Given the description of an element on the screen output the (x, y) to click on. 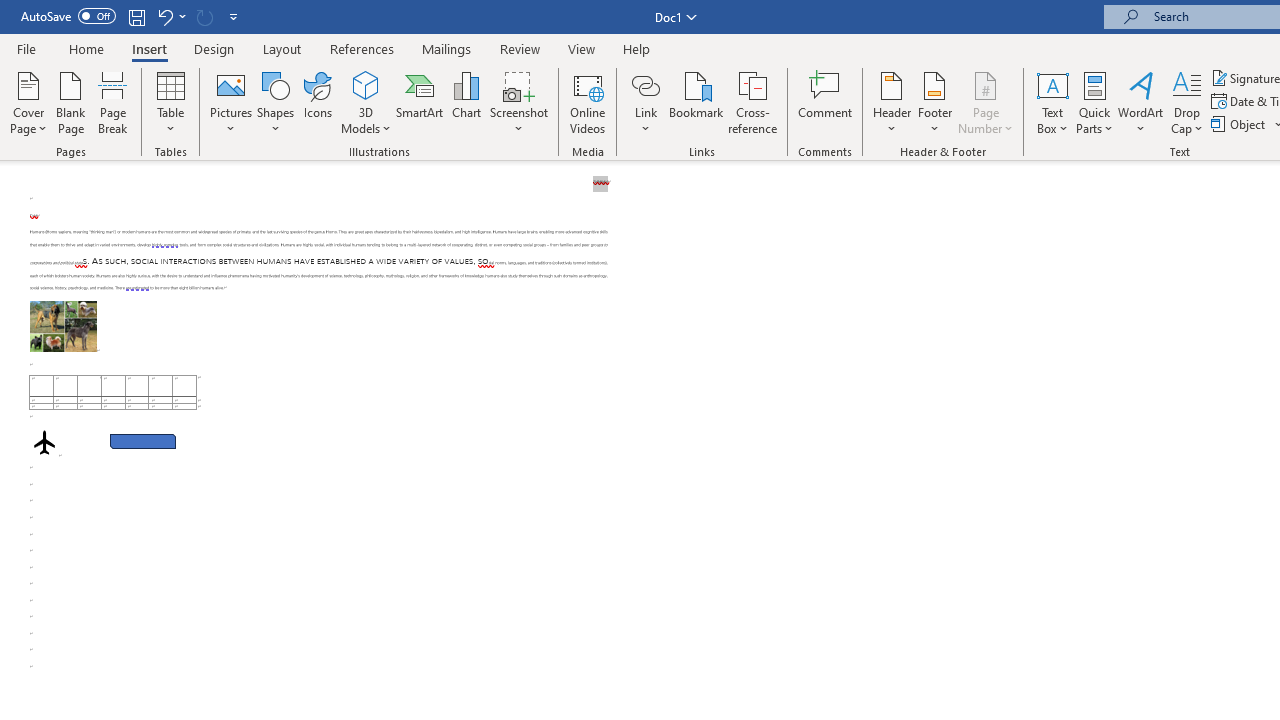
Link (645, 84)
Design (214, 48)
Undo Apply Quick Style Set (170, 15)
Page Number (986, 102)
View (582, 48)
Shapes (275, 102)
Quick Parts (1094, 102)
Undo Apply Quick Style Set (164, 15)
Link (645, 102)
Morphological variation in six dogs (63, 326)
Layout (282, 48)
Table (170, 102)
Text Box (1052, 102)
Object... (1240, 124)
